Given the description of an element on the screen output the (x, y) to click on. 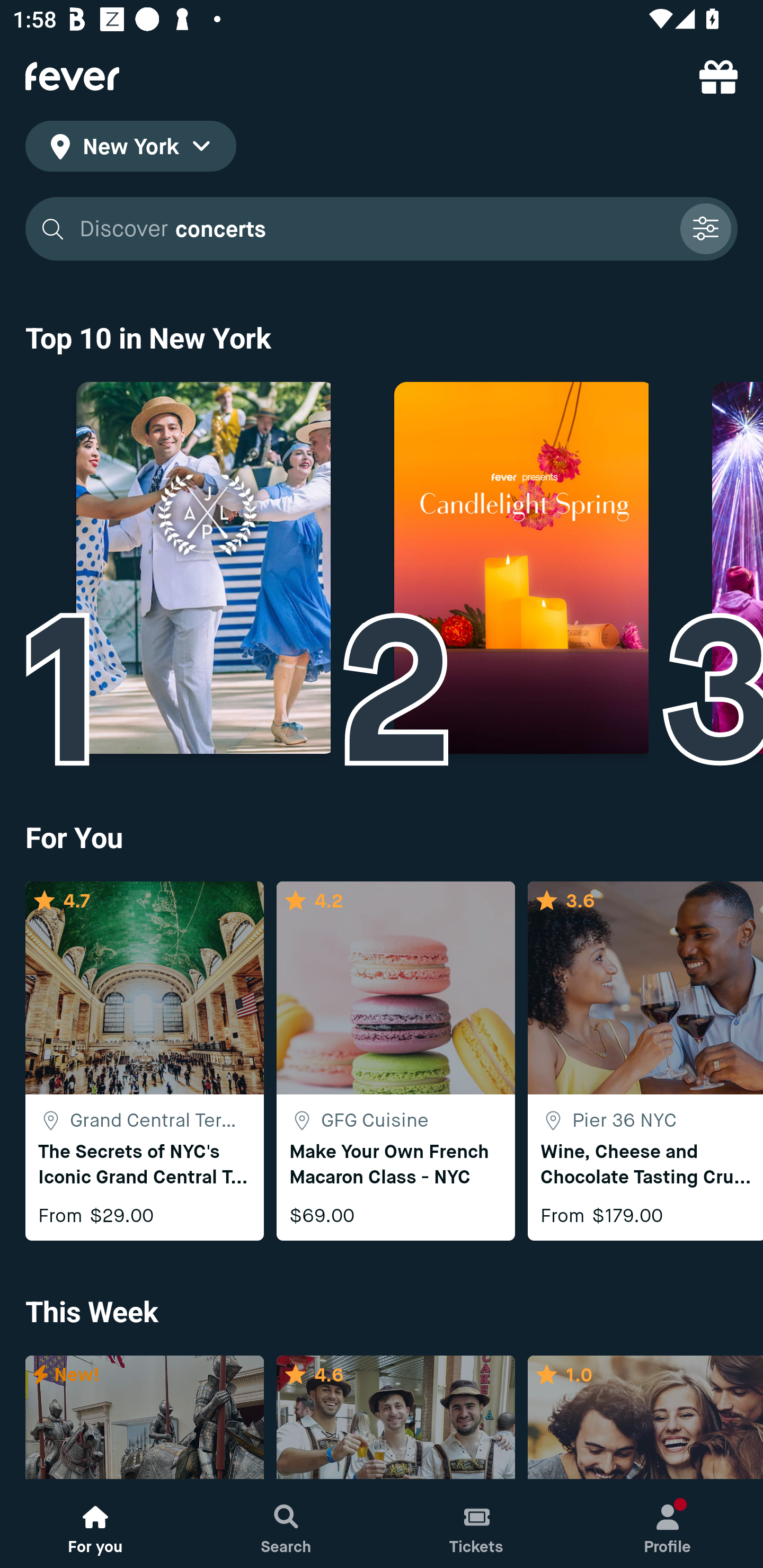
referral (718, 75)
location icon New York location icon (130, 149)
Discover concerts (381, 228)
Discover concerts (373, 228)
cover image New! label New! (144, 1417)
cover image 50.0 4.6 (395, 1417)
cover image 50.0 1.0 (645, 1417)
Search (285, 1523)
Tickets (476, 1523)
Profile, New notification Profile (667, 1523)
